Given the description of an element on the screen output the (x, y) to click on. 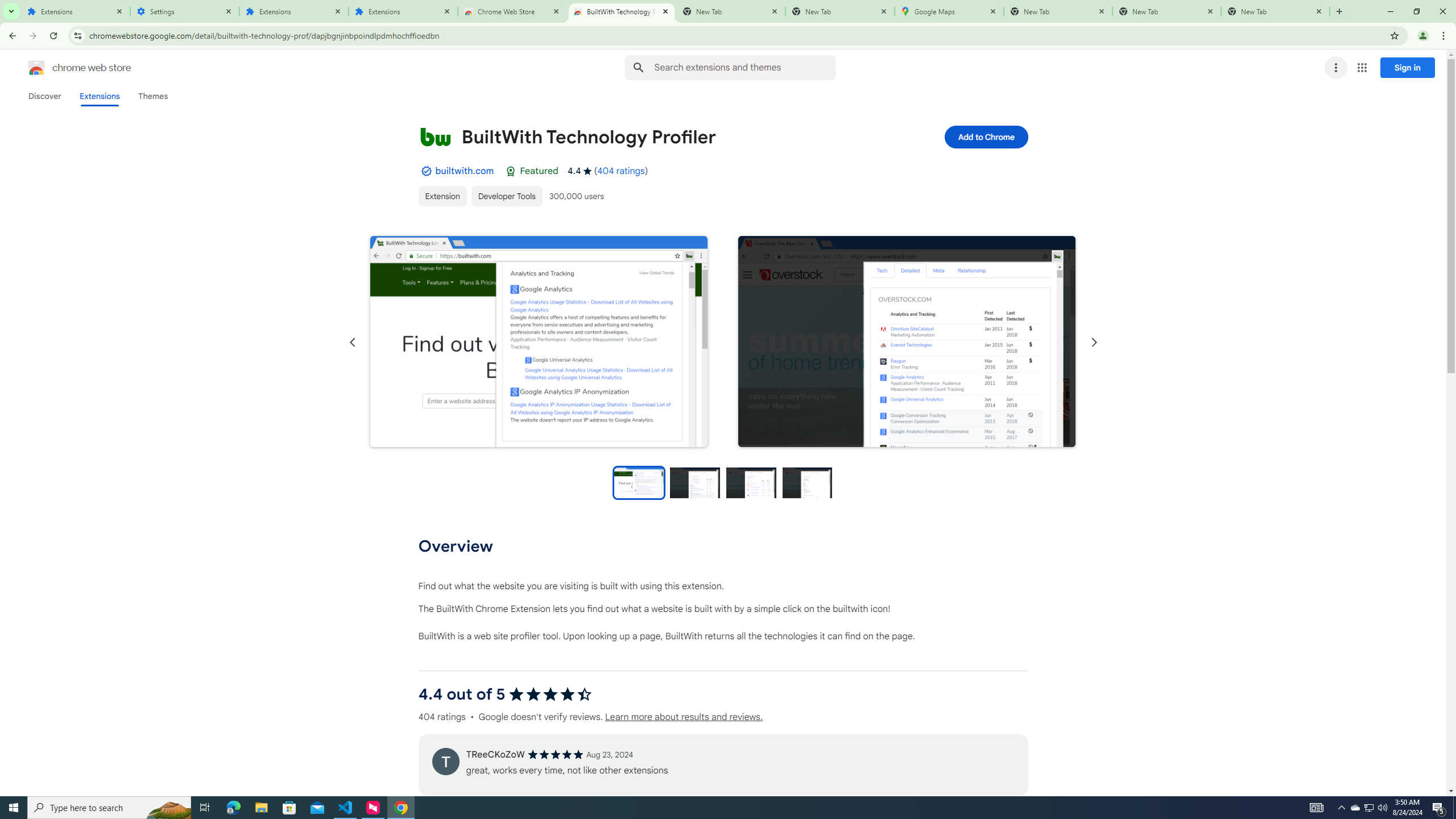
Previous slide (352, 342)
4.4 out of 5 stars (549, 693)
By Established Publisher Badge (425, 170)
Preview slide 3 (751, 482)
Chrome Web Store logo (36, 67)
Google Maps (949, 11)
Item media 2 screenshot (906, 342)
Item media 2 screenshot (906, 341)
